Given the description of an element on the screen output the (x, y) to click on. 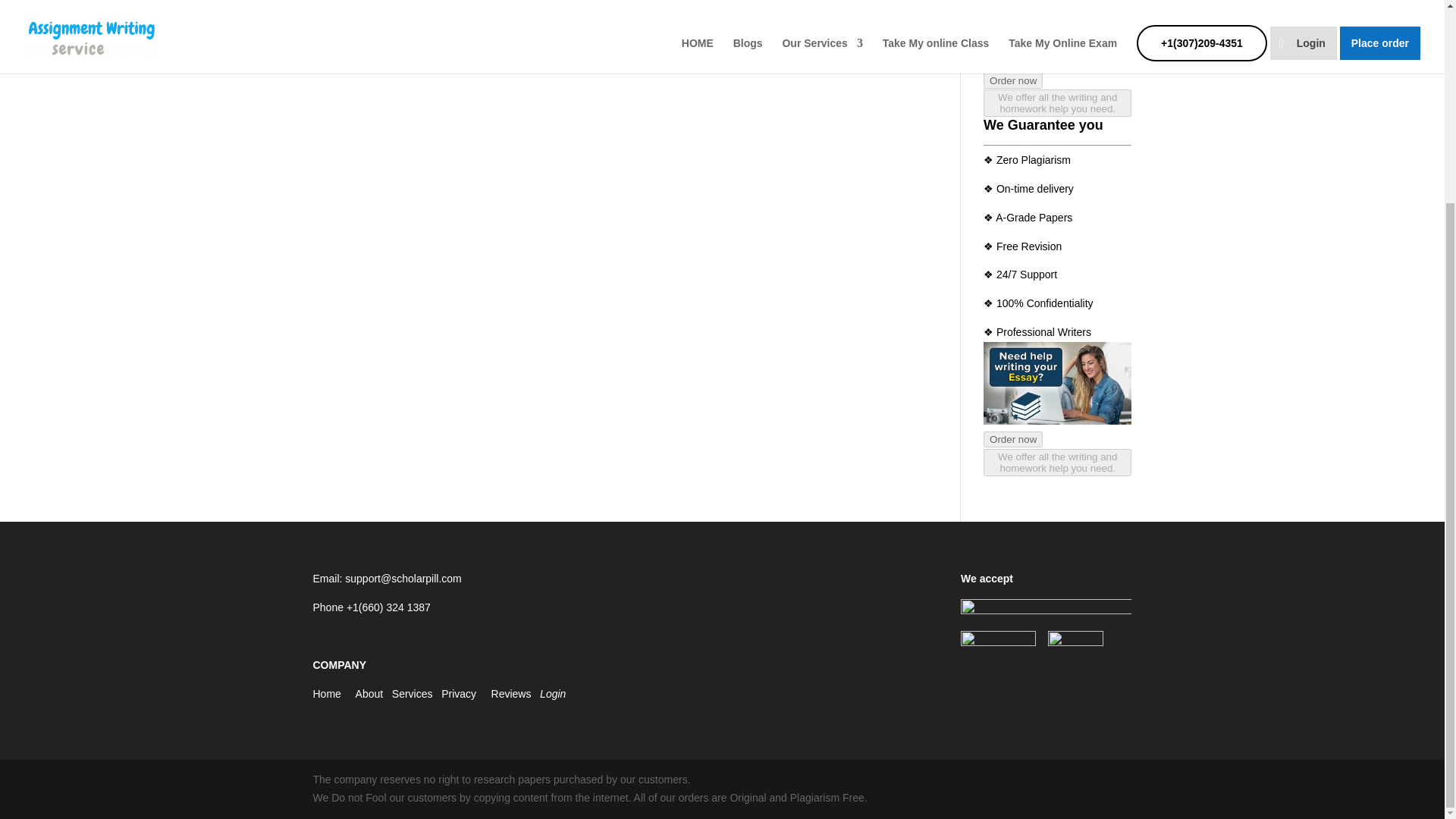
About (369, 693)
Services (411, 693)
We offer all the writing and homework help you need. (1057, 467)
We offer all the writing and homework help you need. (1057, 103)
We offer all the writing and homework help you need. (1057, 108)
Login (553, 693)
Order Now (1011, 61)
Reviews (511, 693)
Home (326, 693)
Order now (1013, 80)
We offer all the writing and homework help you need. (1057, 461)
Order now (1013, 80)
Privacy (458, 693)
Order now (1013, 439)
Order now (1013, 439)
